Given the description of an element on the screen output the (x, y) to click on. 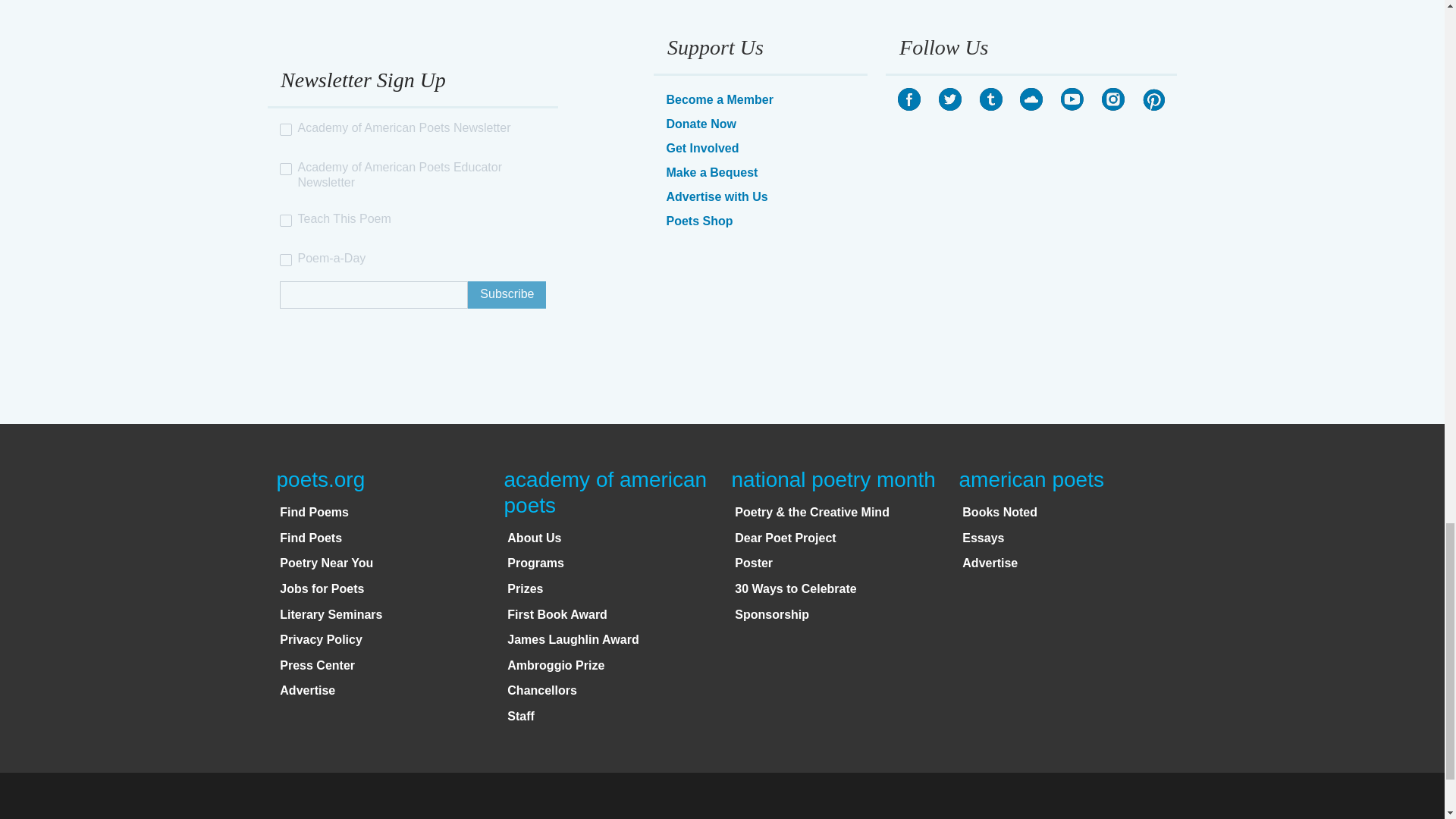
Jobs for Poets (321, 588)
Press Center (317, 665)
Privacy Policy (320, 639)
Subscribe (506, 294)
Literary Seminars (330, 614)
Poetry Near You (325, 562)
Subscribe (506, 294)
